Given the description of an element on the screen output the (x, y) to click on. 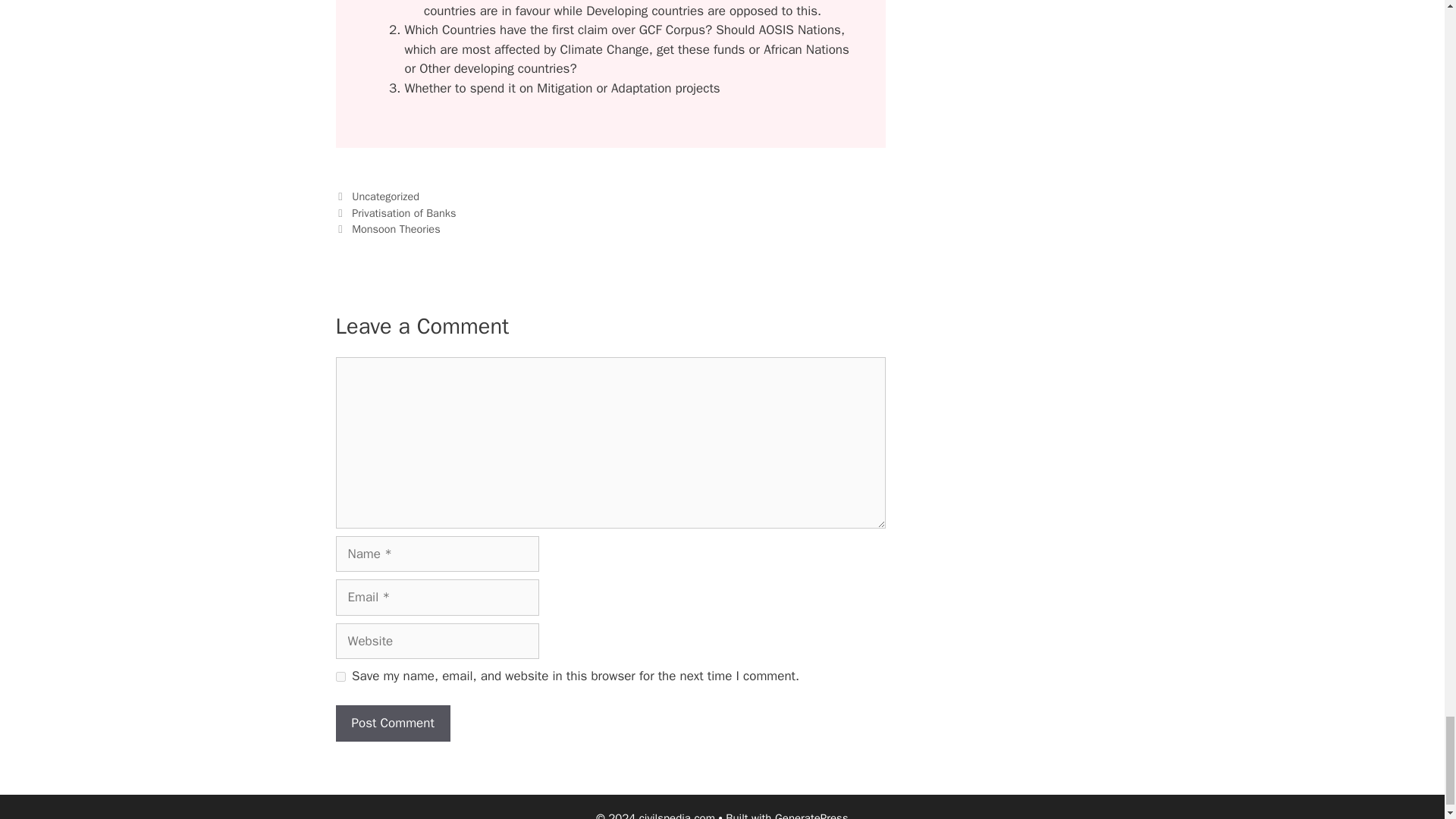
Post Comment (391, 723)
yes (339, 676)
Previous (394, 213)
Uncategorized (385, 196)
Post Comment (391, 723)
Monsoon Theories (396, 228)
Privatisation of Banks (403, 213)
GeneratePress (811, 815)
